Given the description of an element on the screen output the (x, y) to click on. 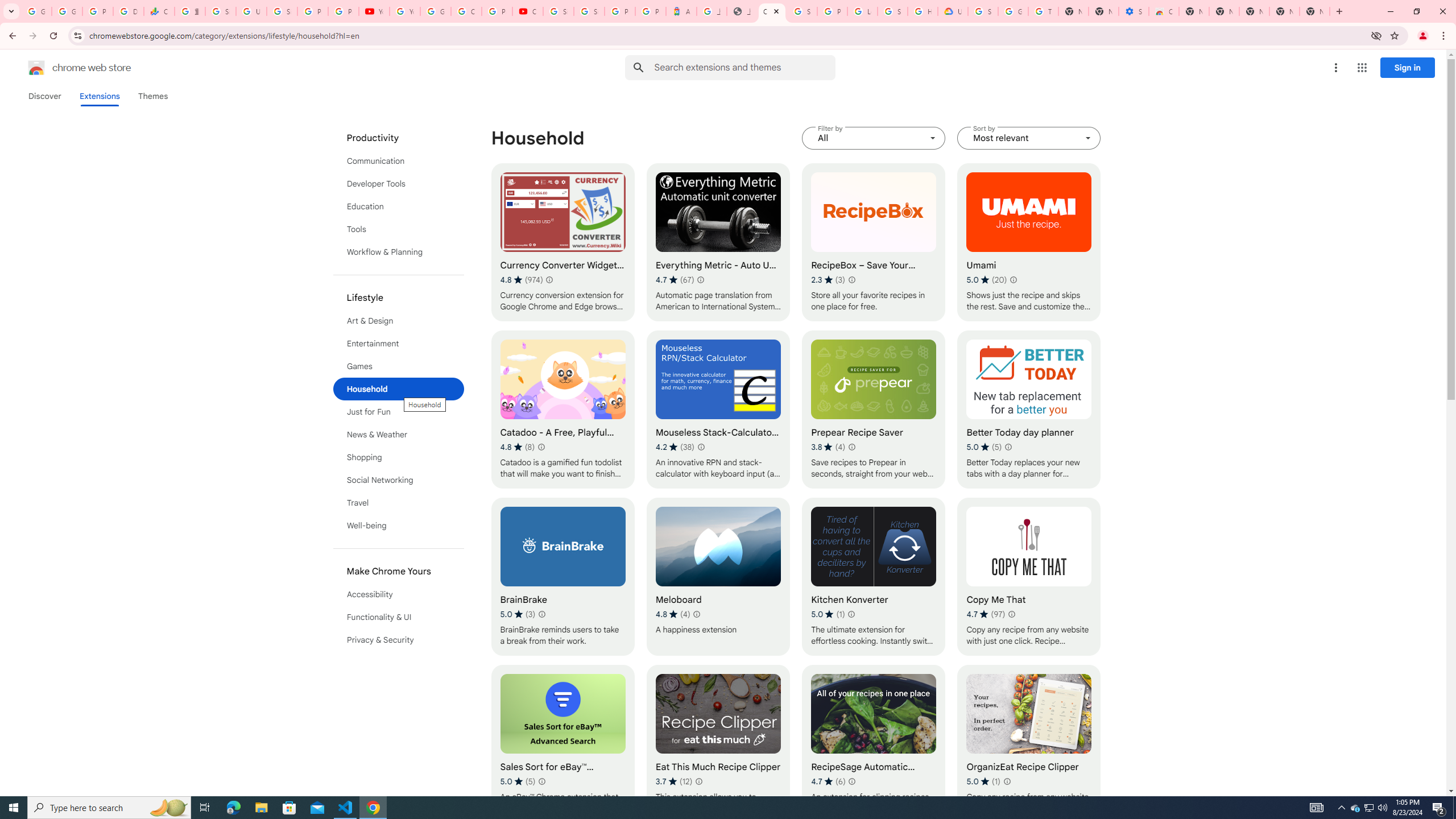
Privacy & Security (398, 639)
Sign in - Google Accounts (220, 11)
Well-being (398, 525)
Chrome Web Store logo (36, 67)
Games (398, 365)
Better Today day planner (1028, 409)
Mouseless Stack-Calculator Ext (718, 409)
